Given the description of an element on the screen output the (x, y) to click on. 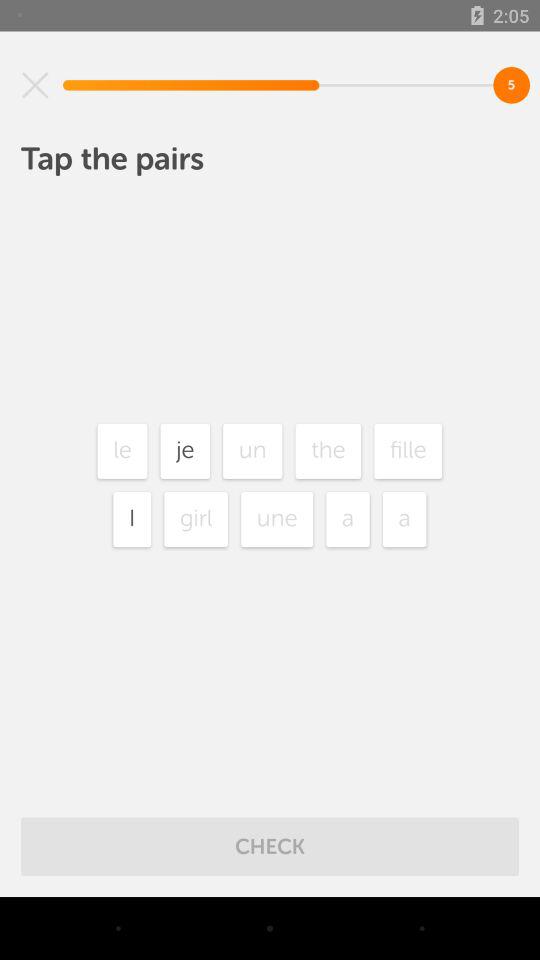
open item next to un icon (185, 450)
